Given the description of an element on the screen output the (x, y) to click on. 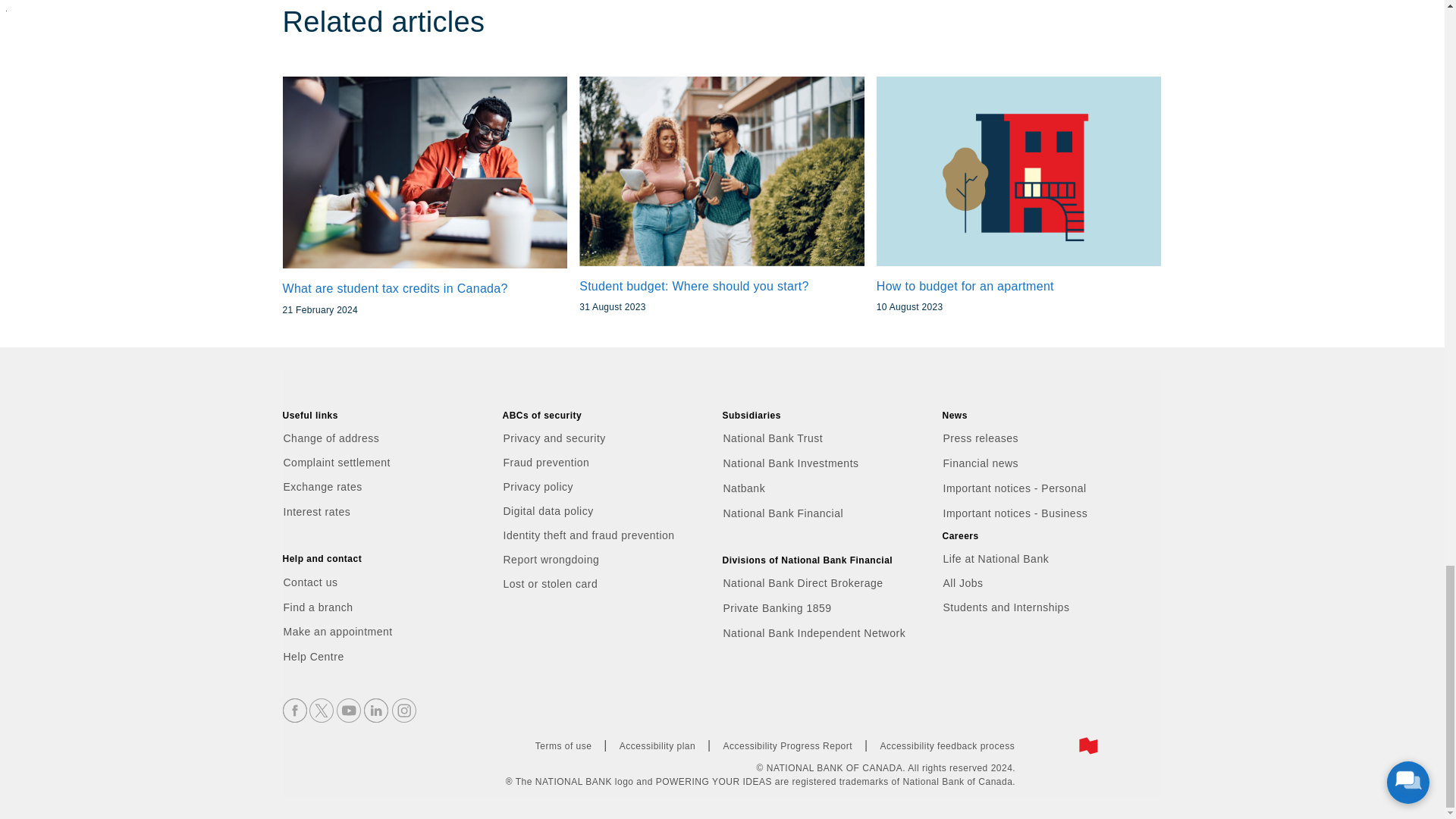
How much does student housing cost in Canada? (1018, 171)
img-impot-scolaire-1020x680 (424, 172)
